Given the description of an element on the screen output the (x, y) to click on. 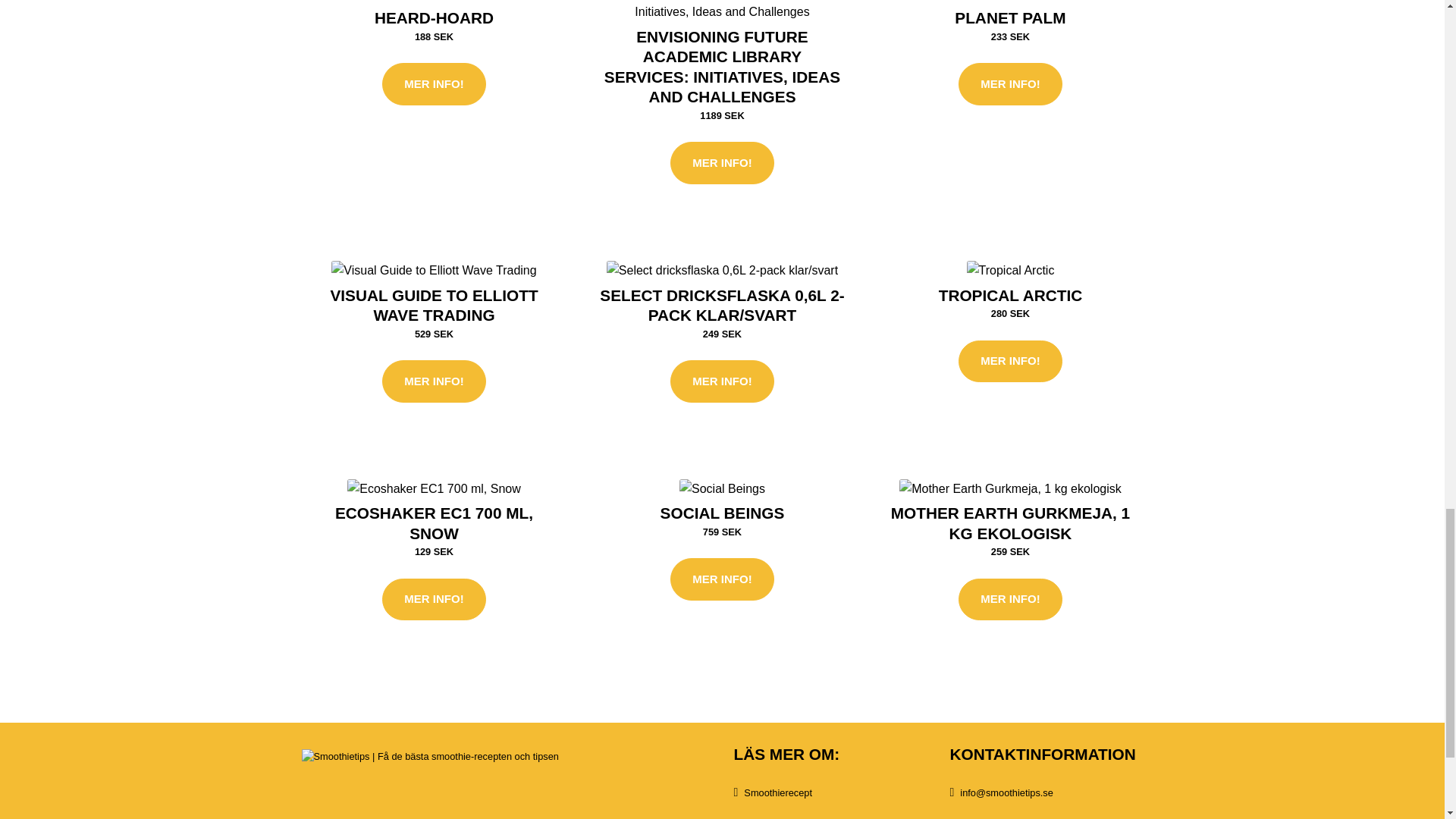
MER INFO! (432, 84)
HEARD-HOARD (433, 17)
